Given the description of an element on the screen output the (x, y) to click on. 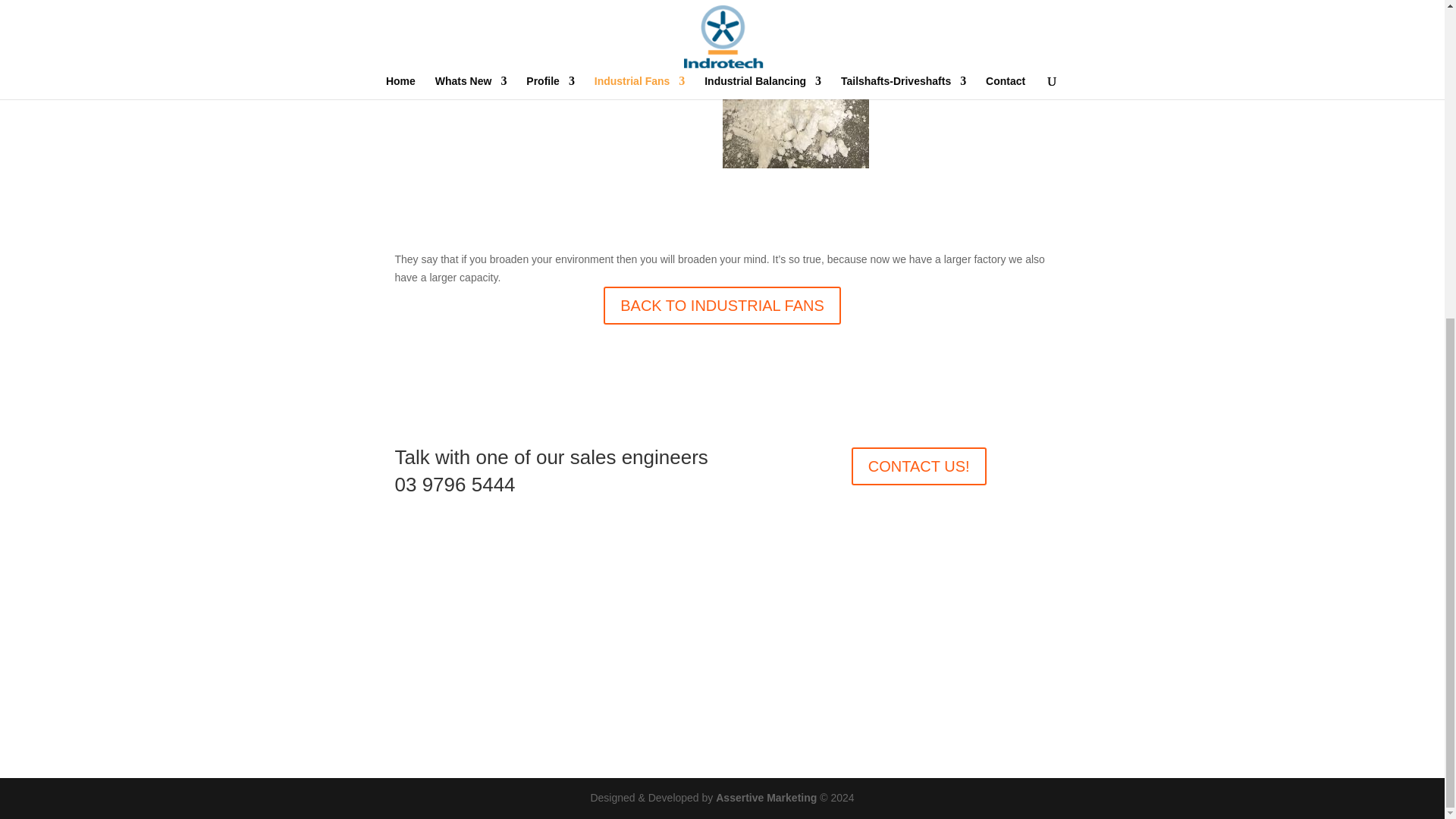
Follow on X (751, 636)
Follow on LinkedIn (691, 636)
Follow on Facebook (721, 636)
